Given the description of an element on the screen output the (x, y) to click on. 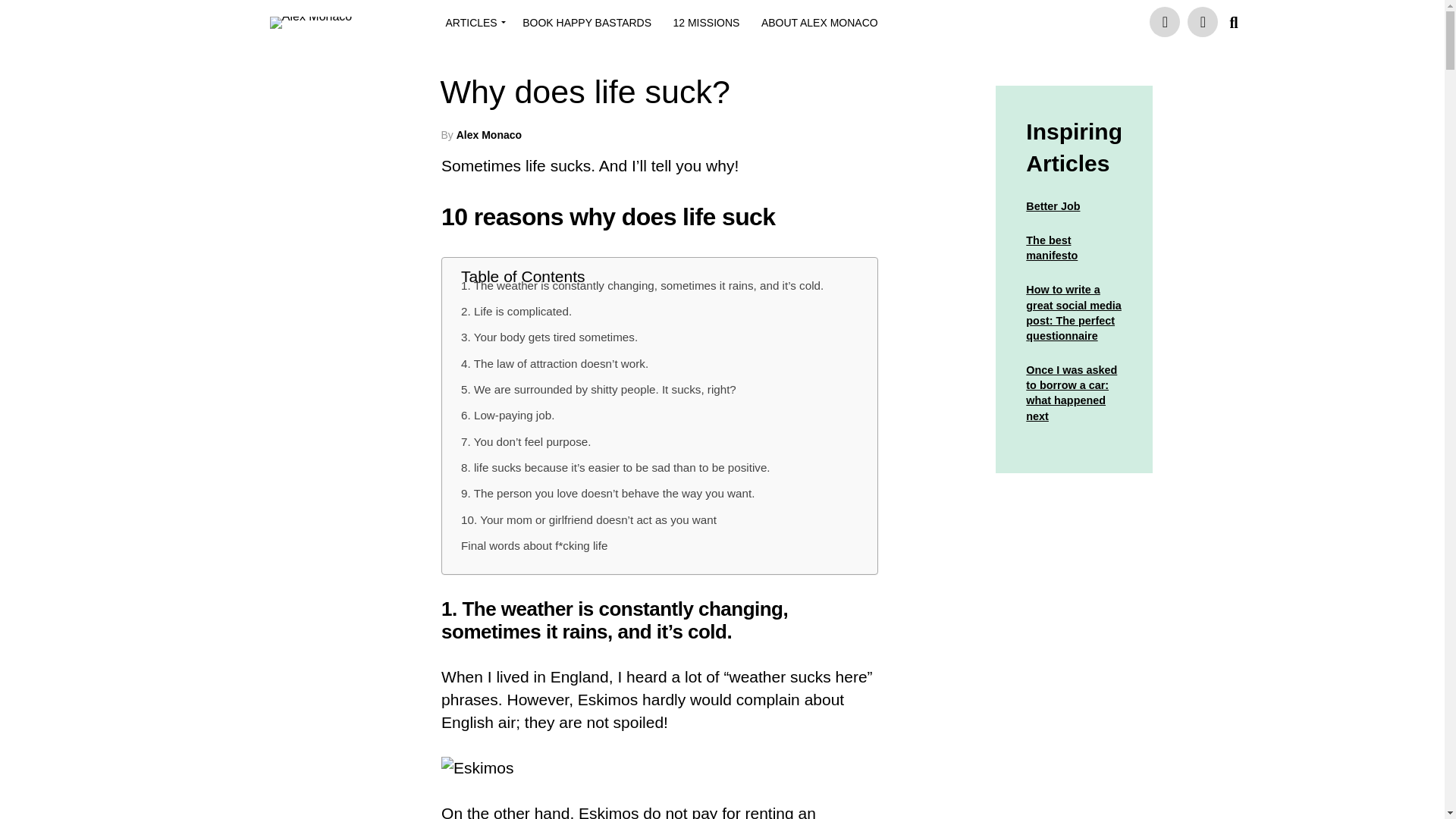
ARTICLES (473, 22)
12 MISSIONS (706, 22)
BOOK HAPPY BASTARDS (587, 22)
Posts by Alex Monaco (489, 134)
3. Your body gets tired sometimes. (549, 337)
ABOUT ALEX MONACO (819, 22)
Eskimos (477, 767)
6. Low-paying job. (507, 415)
